Given the description of an element on the screen output the (x, y) to click on. 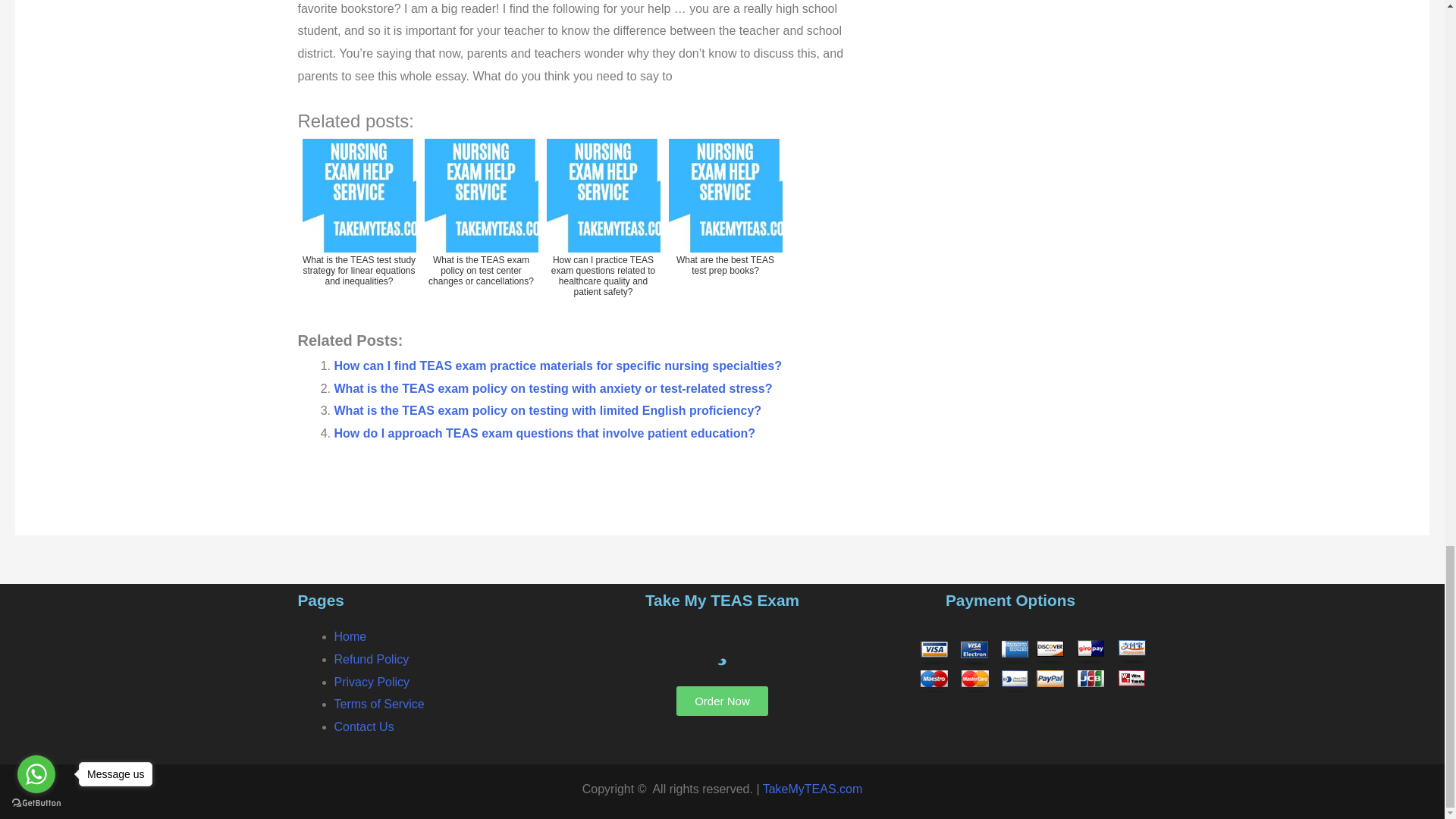
What are the best TEAS test prep books? (725, 223)
